Given the description of an element on the screen output the (x, y) to click on. 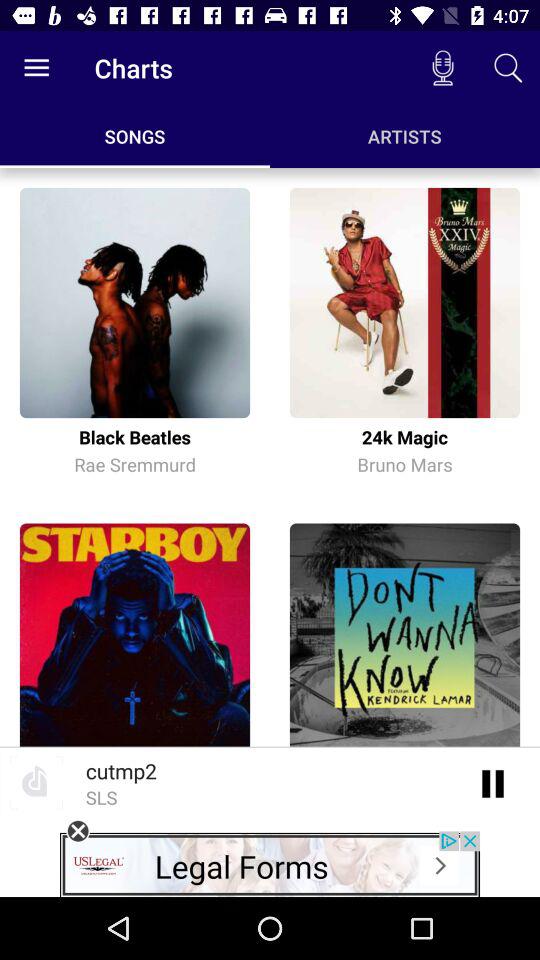
go to advertisement (270, 864)
